Given the description of an element on the screen output the (x, y) to click on. 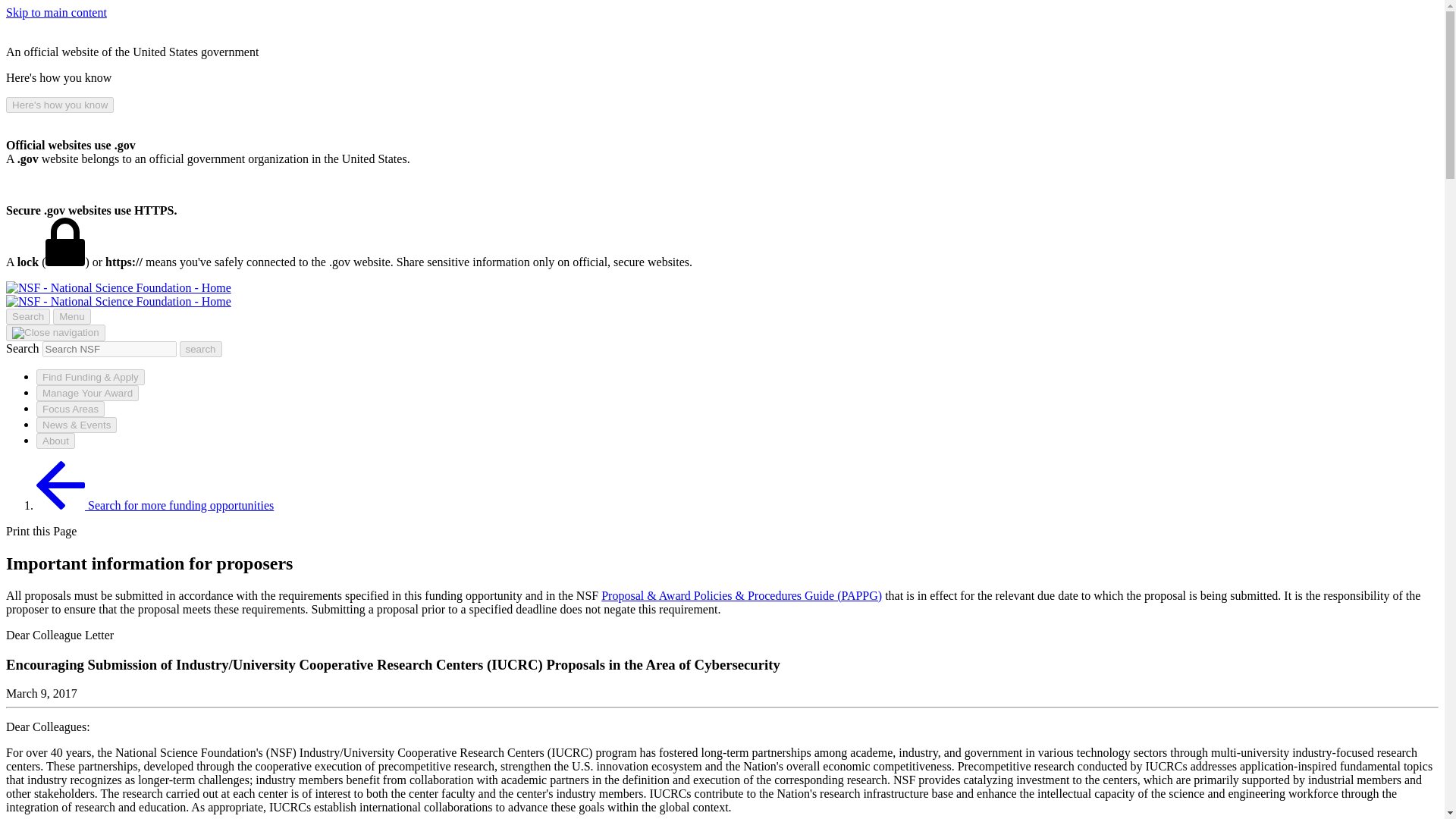
Skip to main content (55, 11)
Search (27, 316)
search (109, 349)
Print this Page (41, 530)
About (55, 440)
Focus Areas (70, 408)
Menu (71, 316)
Manage Your Award (87, 392)
arrow-left Search for more funding opportunities (154, 504)
Here's how you know (59, 105)
search (200, 349)
arrow-left (60, 485)
